Given the description of an element on the screen output the (x, y) to click on. 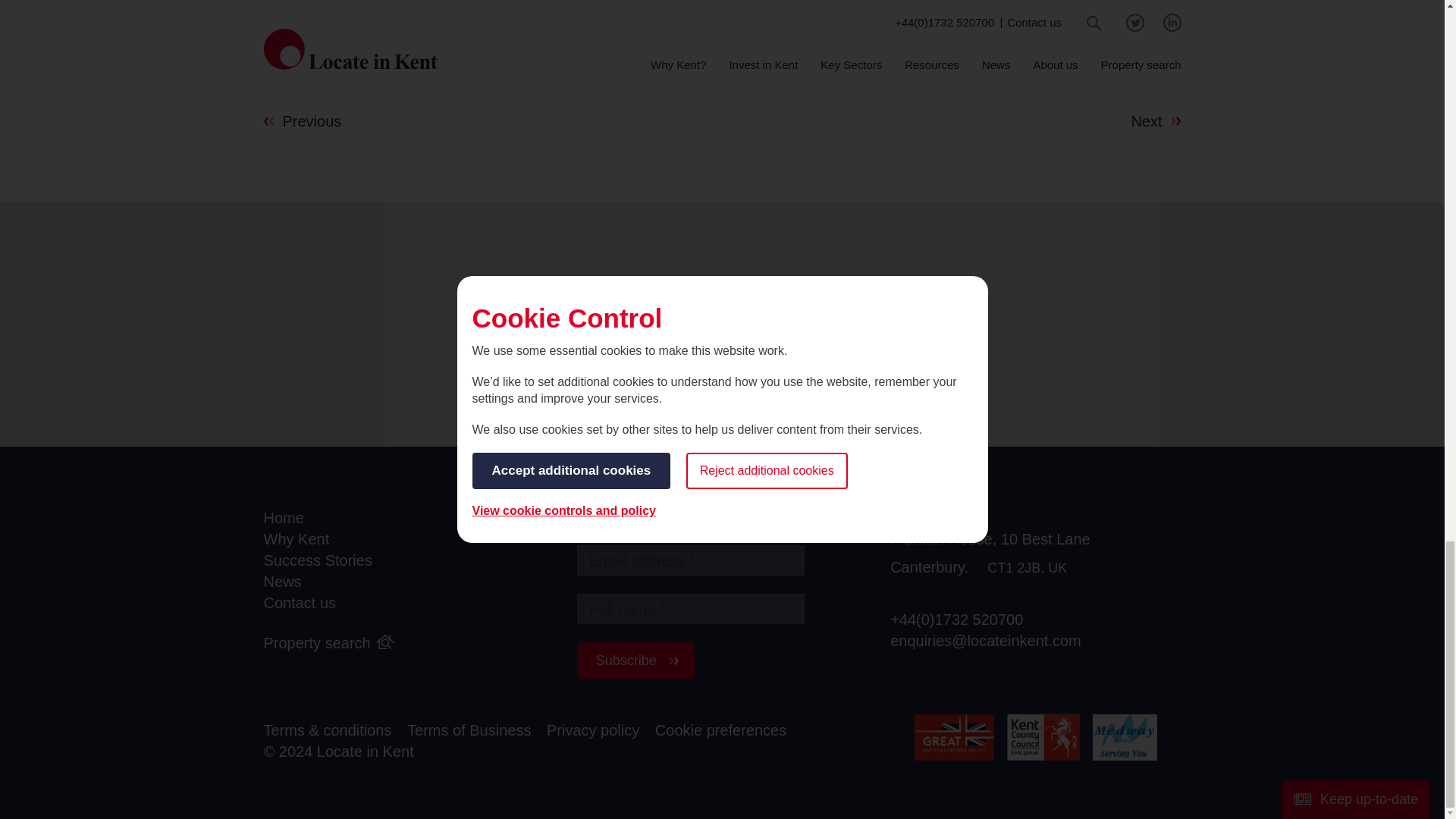
Home (283, 518)
Contact us (299, 602)
News (282, 581)
Success Stories (317, 560)
Subscribe (635, 660)
Why Kent (296, 538)
